Given the description of an element on the screen output the (x, y) to click on. 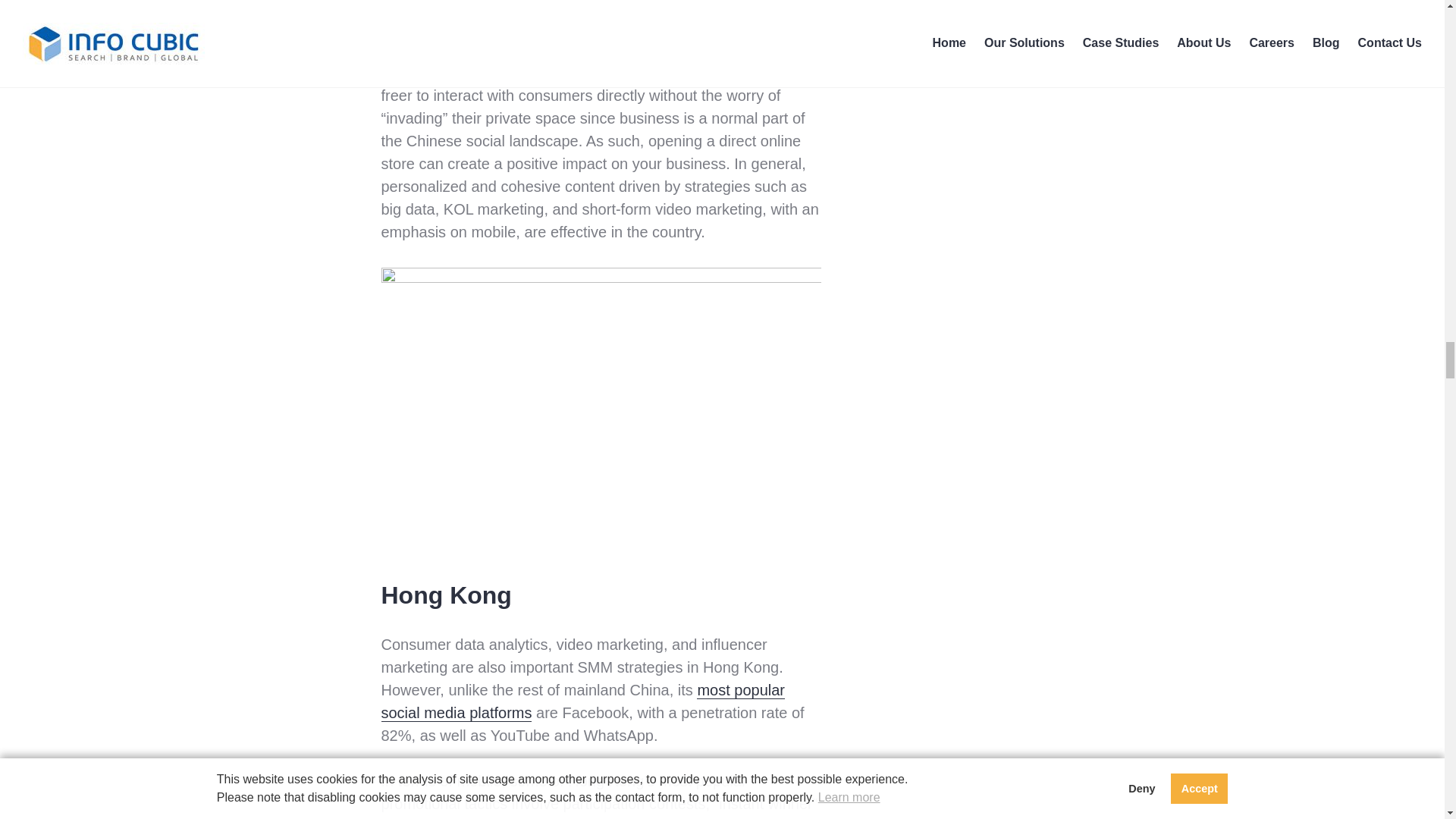
most popular social media platforms (582, 701)
